Given the description of an element on the screen output the (x, y) to click on. 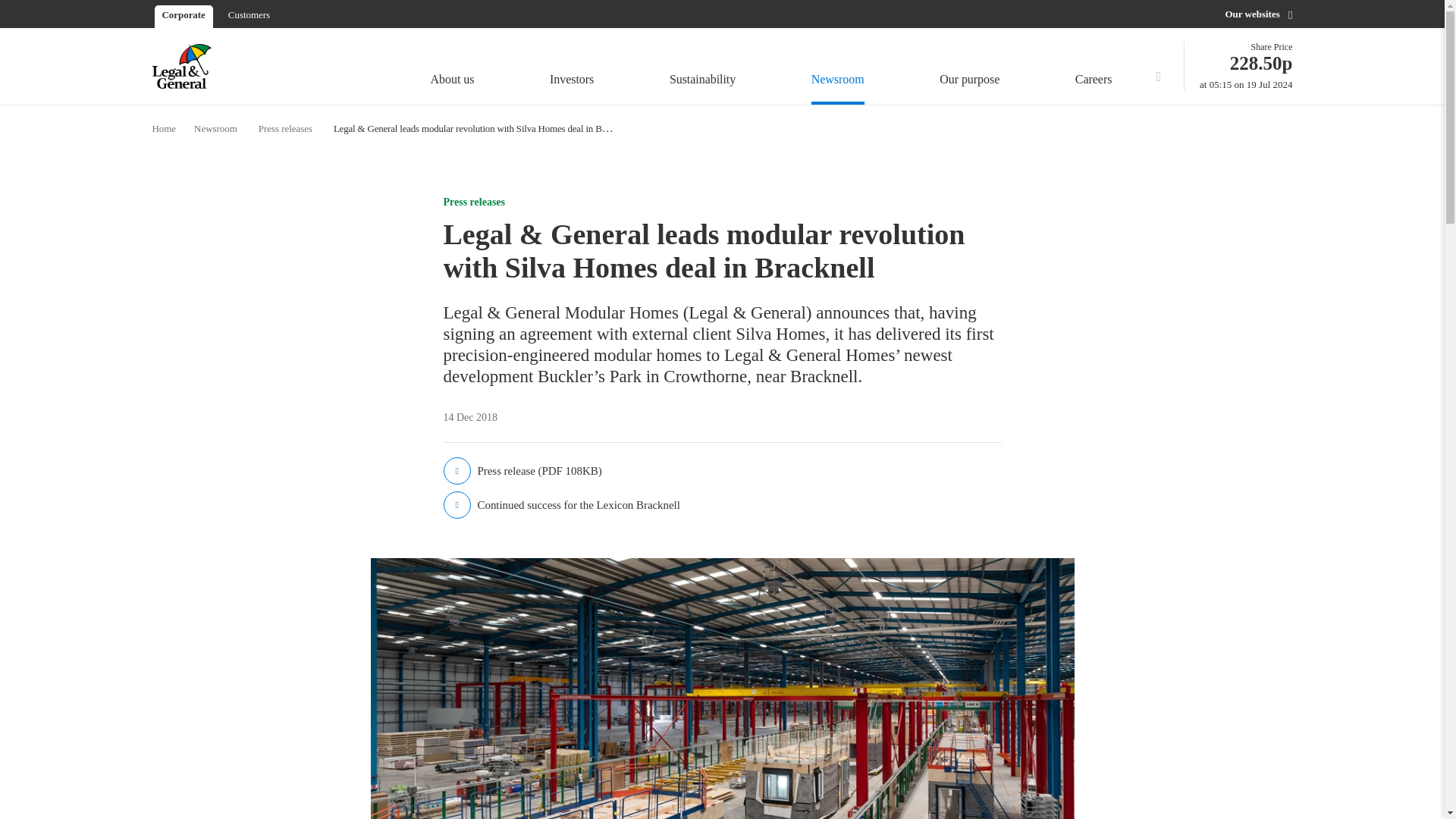
Careers (1096, 68)
Customers (248, 14)
Our websites (1258, 14)
Newsroom (1245, 65)
Search (837, 68)
Investors (1158, 65)
Our purpose (572, 68)
Sustainability (968, 68)
About us (702, 68)
